Given the description of an element on the screen output the (x, y) to click on. 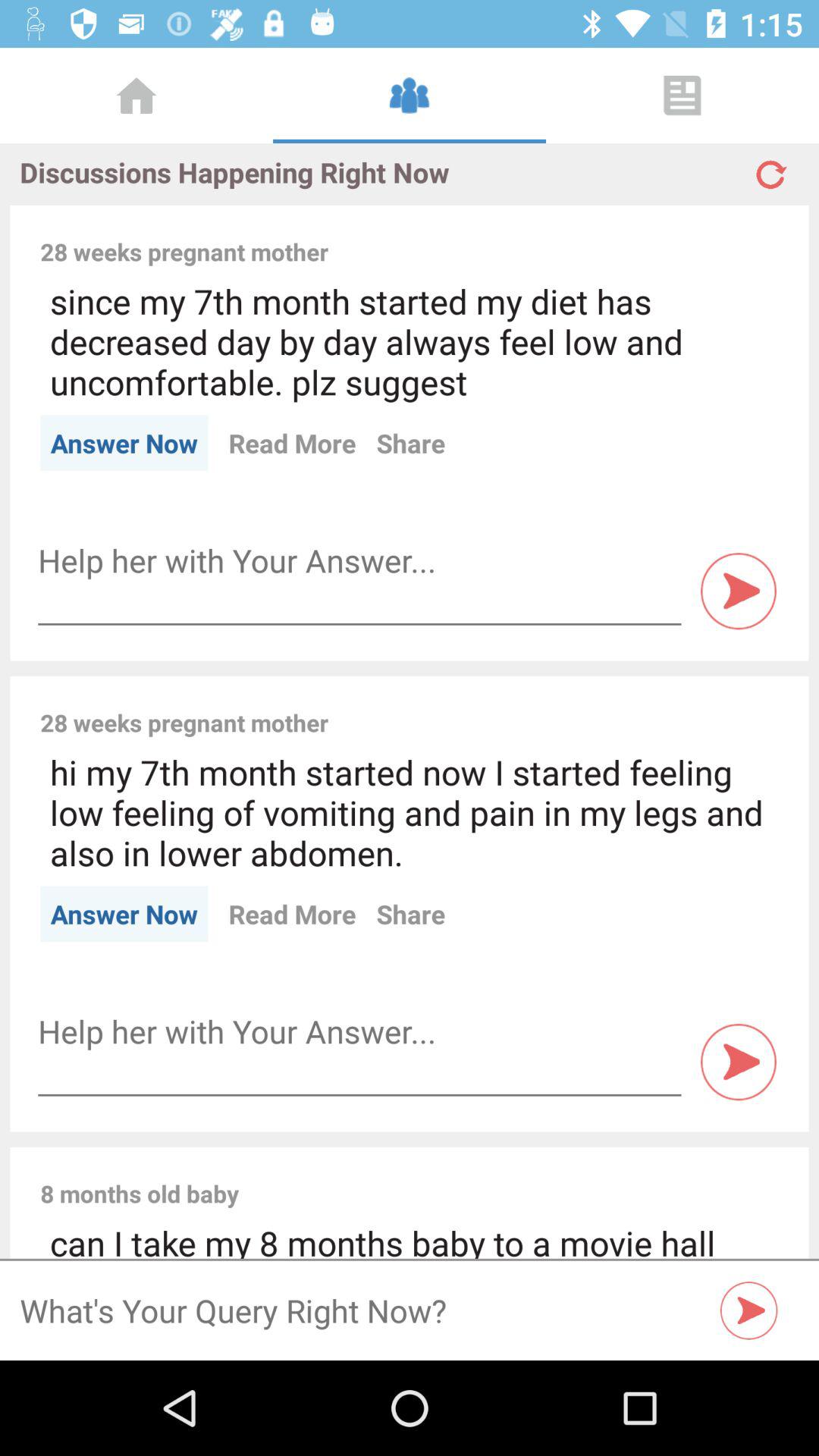
refresh button (768, 168)
